Given the description of an element on the screen output the (x, y) to click on. 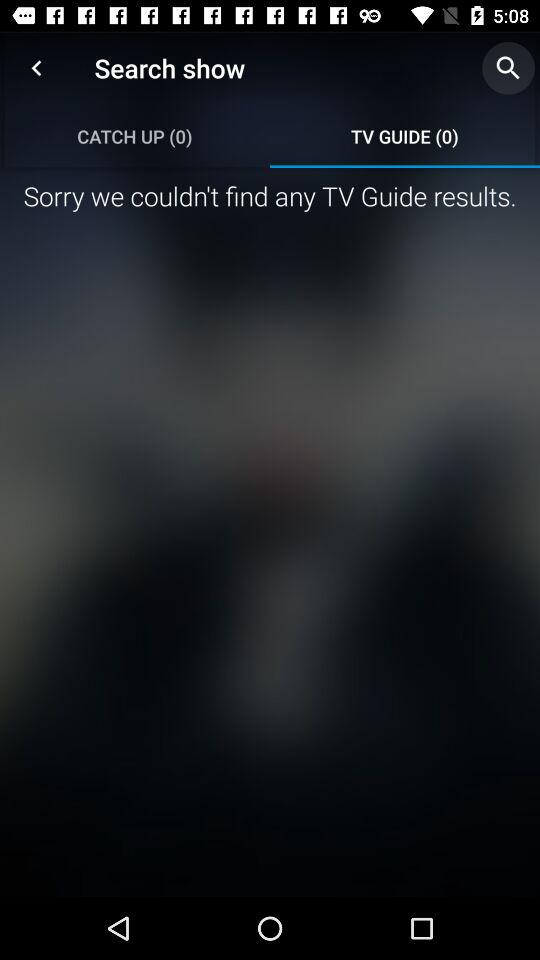
press item next to the search show (36, 68)
